Given the description of an element on the screen output the (x, y) to click on. 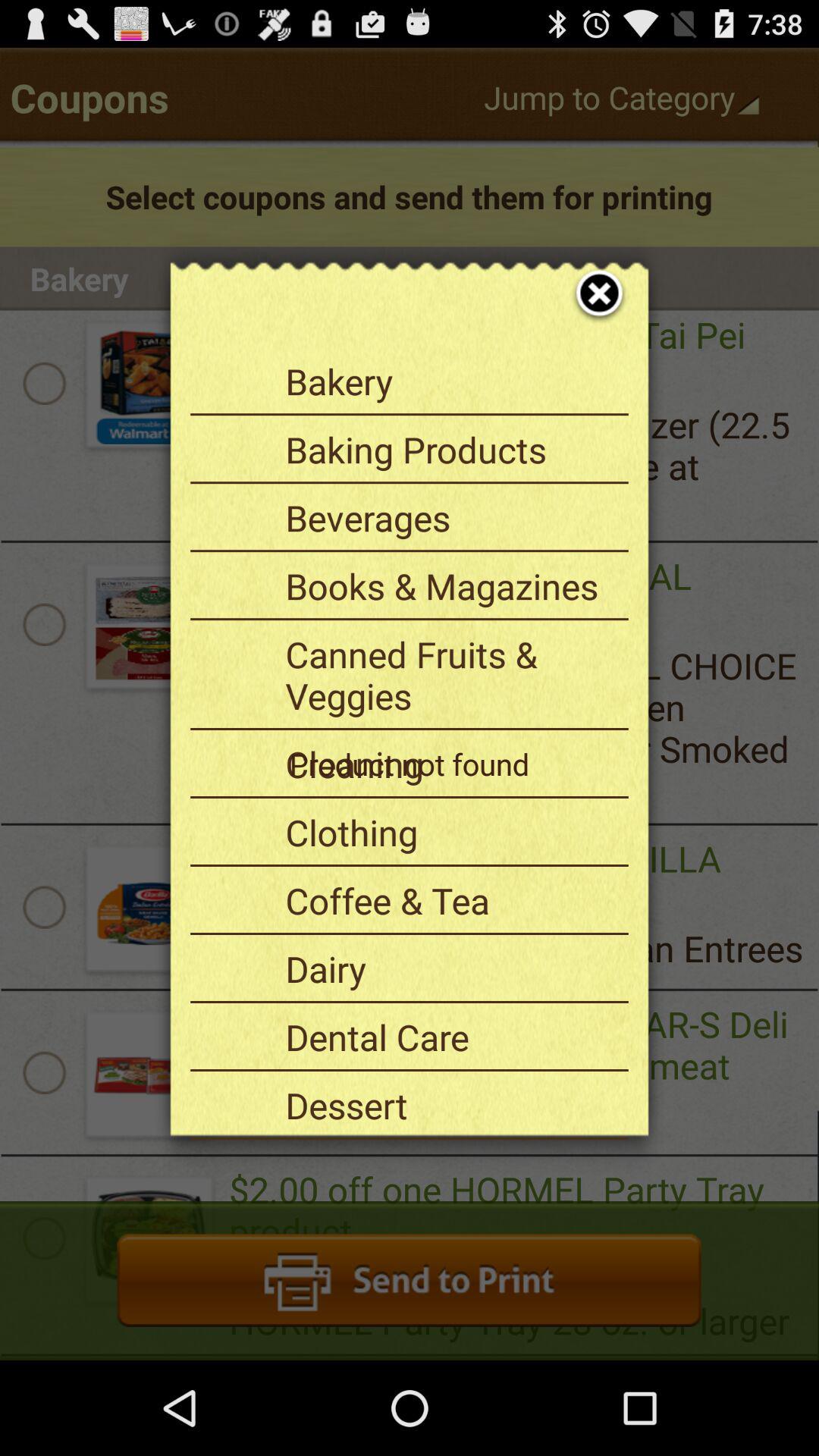
launch item above the beverages item (451, 449)
